Given the description of an element on the screen output the (x, y) to click on. 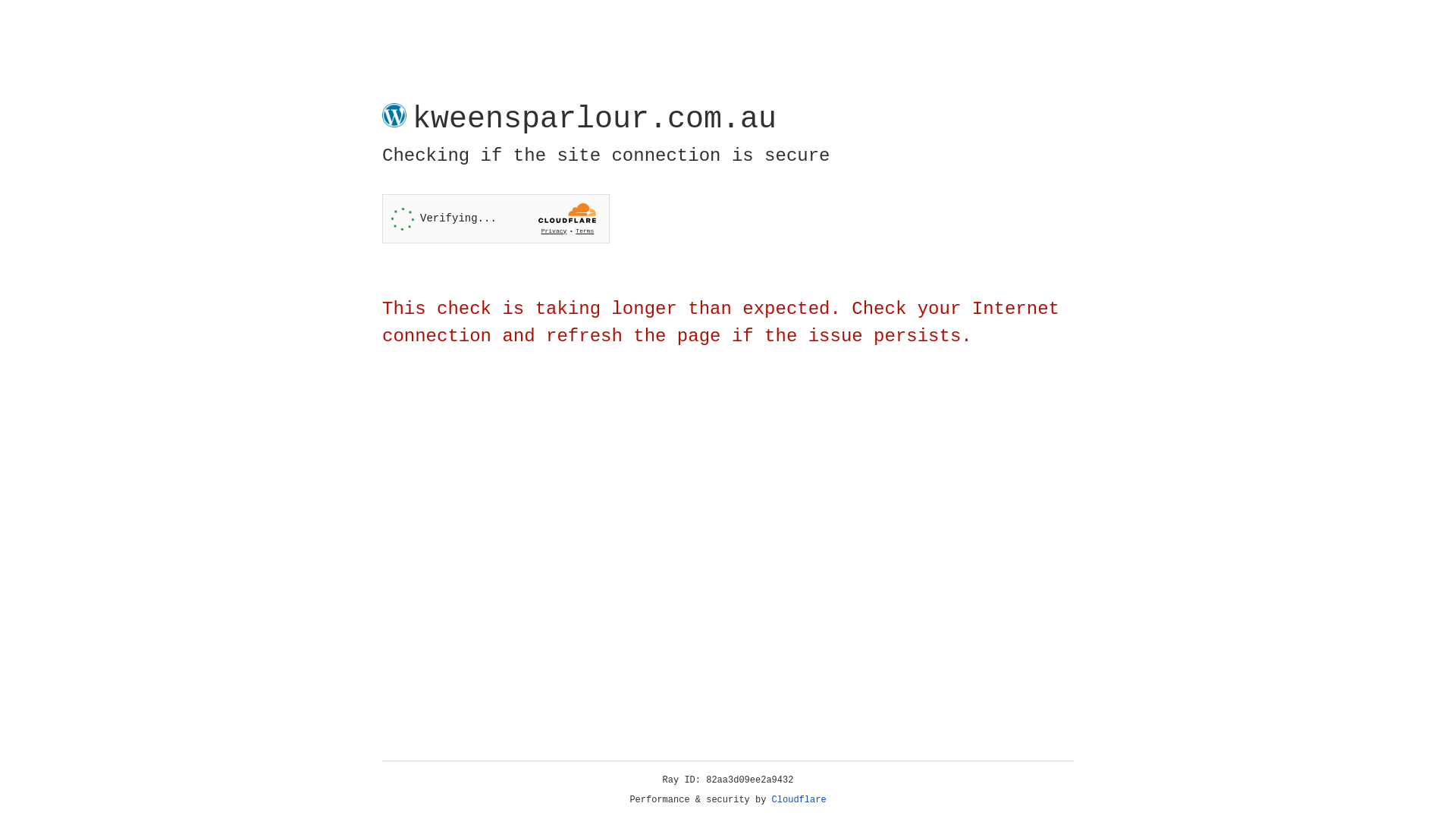
Cloudflare Element type: text (798, 799)
